Given the description of an element on the screen output the (x, y) to click on. 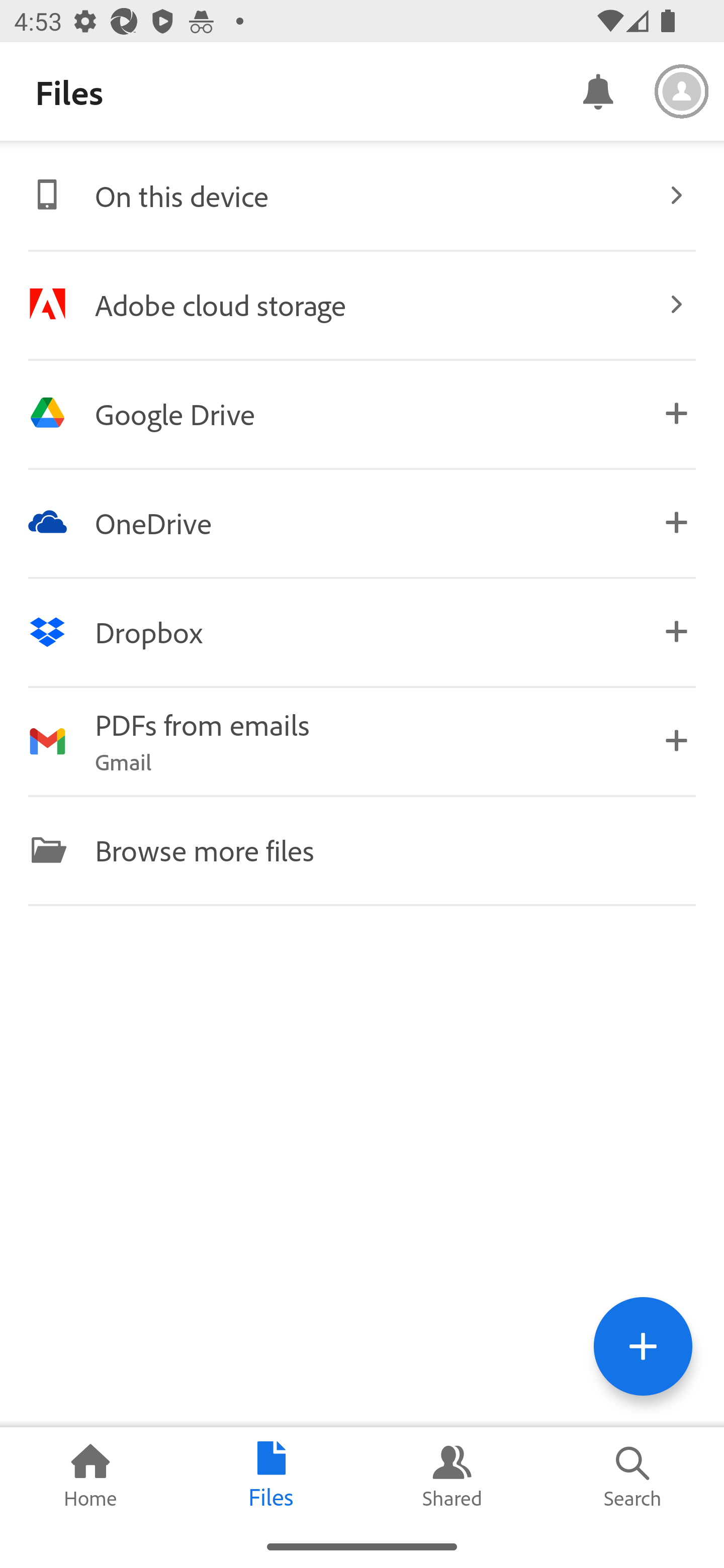
Notifications (597, 90)
Settings (681, 91)
Image On this device (362, 195)
Image Adobe cloud storage (362, 304)
Image Google Drive (362, 413)
Image OneDrive (362, 522)
Image Dropbox (362, 631)
Image PDFs from emails Gmail (362, 740)
Image Browse more files (362, 849)
Tools (642, 1345)
Home (90, 1475)
Files (271, 1475)
Shared (452, 1475)
Search (633, 1475)
